Given the description of an element on the screen output the (x, y) to click on. 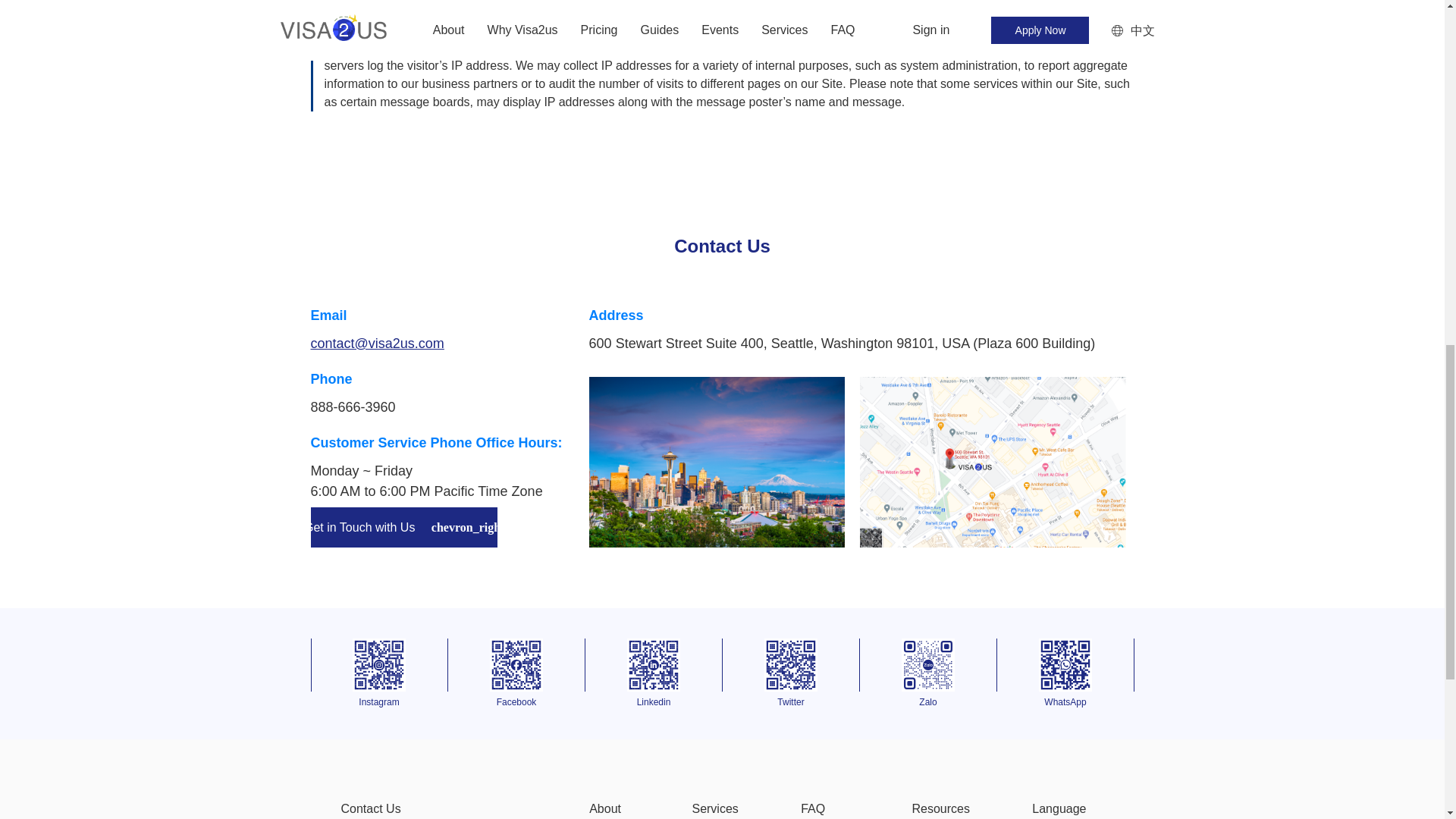
888-666-3960 (353, 406)
